Given the description of an element on the screen output the (x, y) to click on. 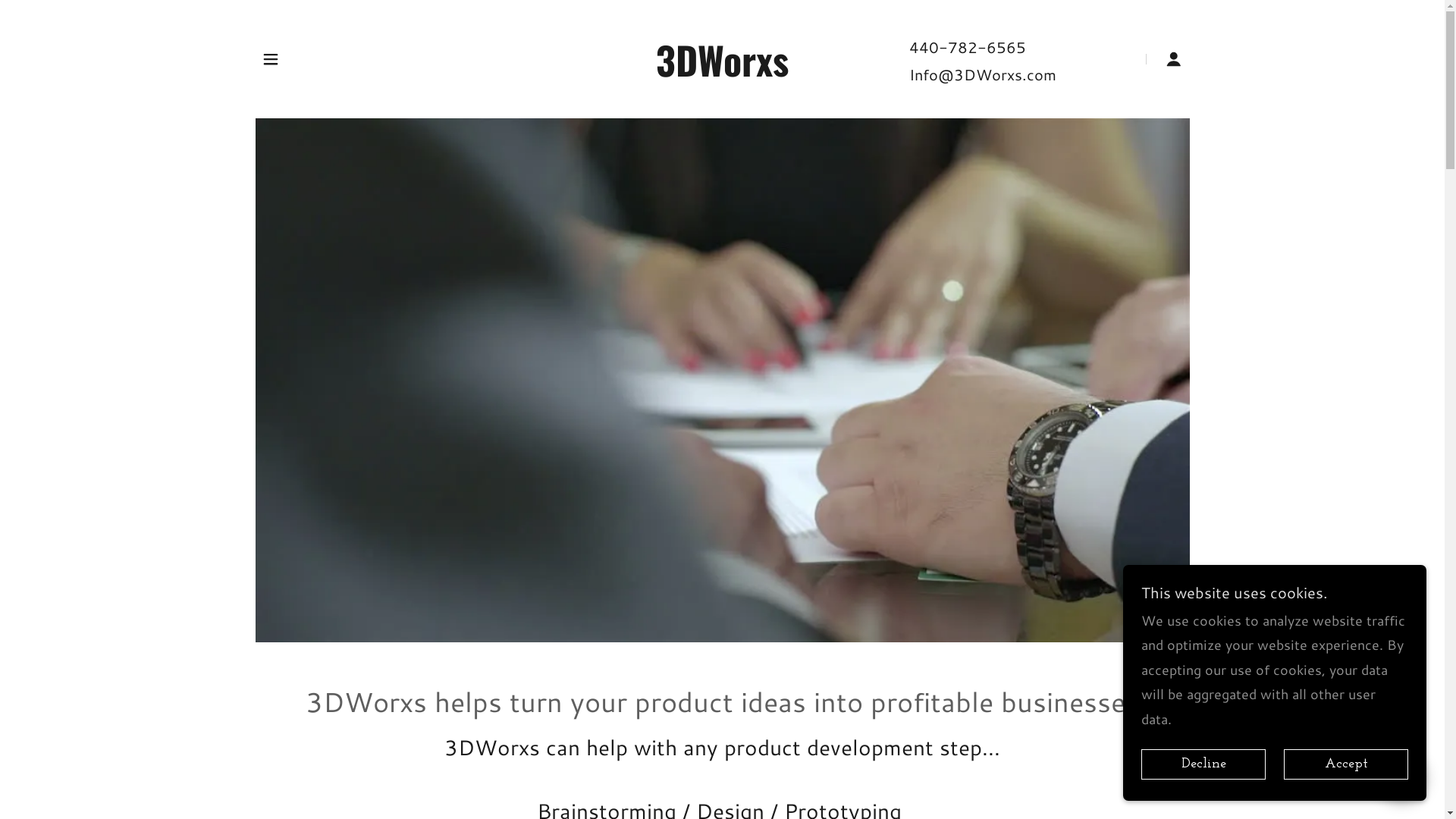
Decline Element type: text (1203, 764)
Accept Element type: text (1345, 764)
Info@3DWorxs.com Element type: text (982, 73)
440-782-6565 Element type: text (967, 46)
3DWorxs Element type: text (722, 71)
